Given the description of an element on the screen output the (x, y) to click on. 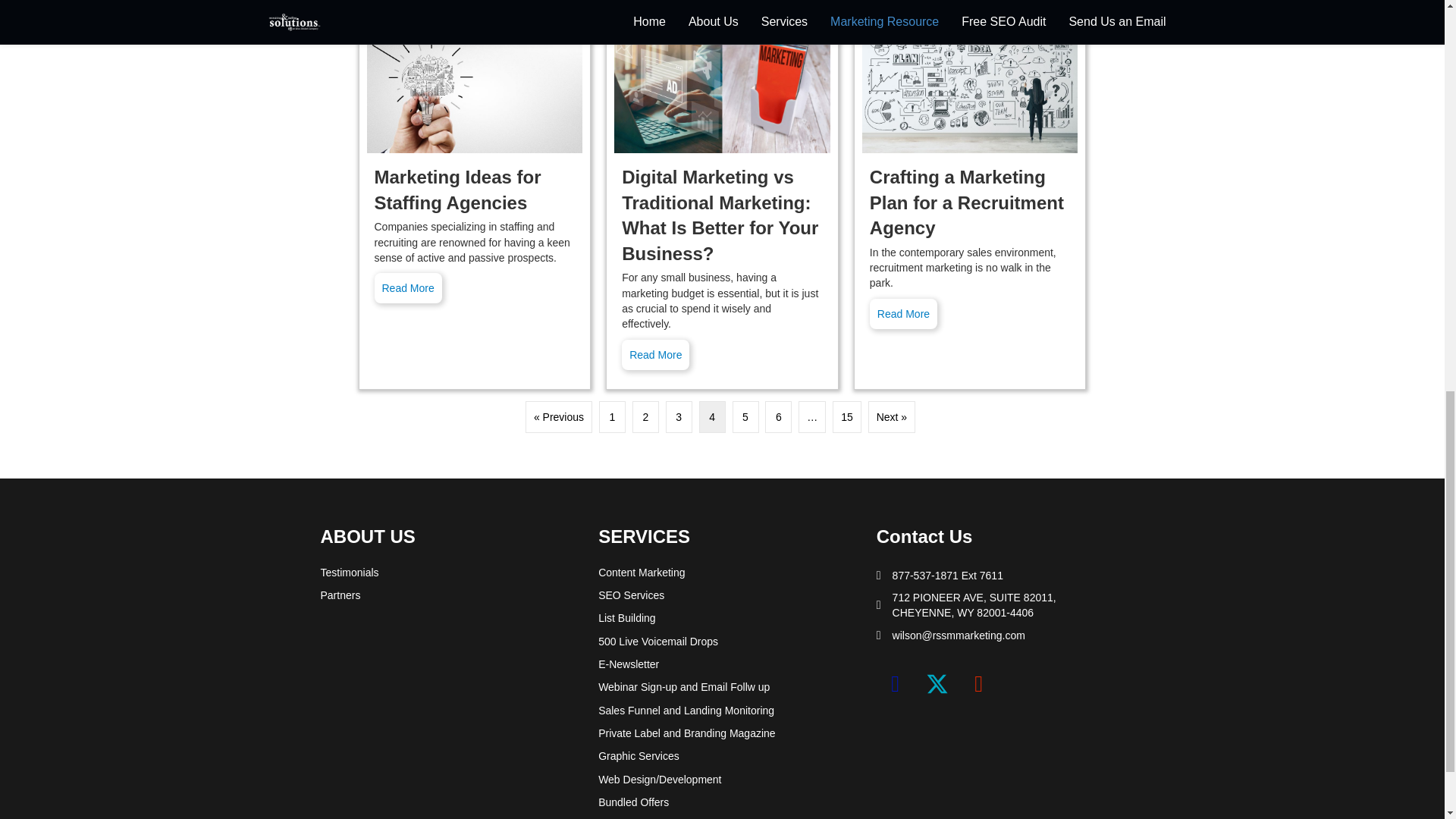
Marketing Ideas for Staffing Agencies (474, 85)
Marketing Ideas for Staffing Agencies (457, 189)
Marketing Ideas for Staffing Agencies (408, 287)
